Given the description of an element on the screen output the (x, y) to click on. 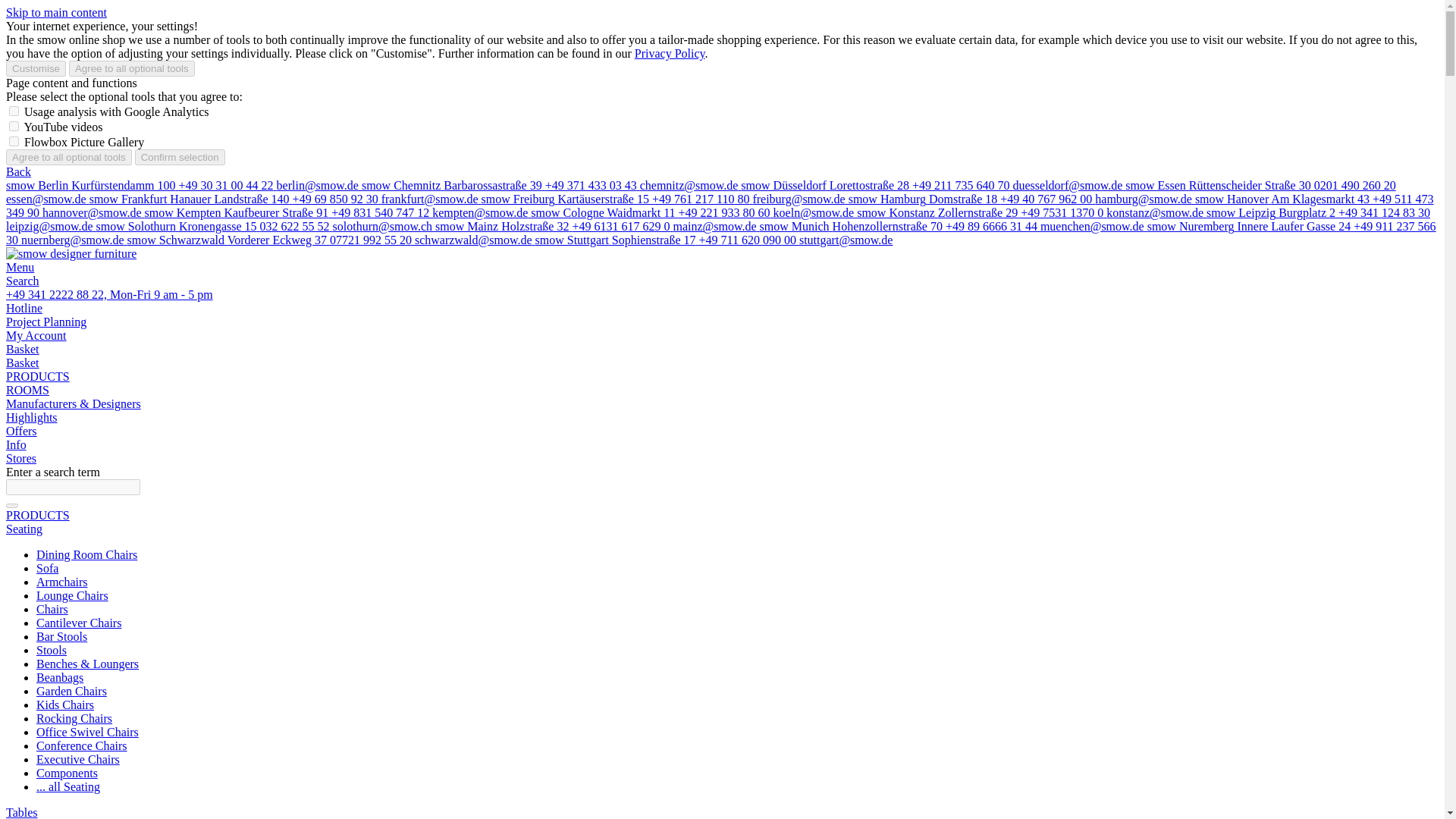
Agree to all optional tools (131, 68)
Highlights (31, 417)
checked (13, 126)
Customise (35, 68)
Agree to all optional tools (68, 157)
Info (15, 444)
Stores (20, 458)
Offers (21, 431)
checked (13, 141)
ROOMS (27, 390)
